Given the description of an element on the screen output the (x, y) to click on. 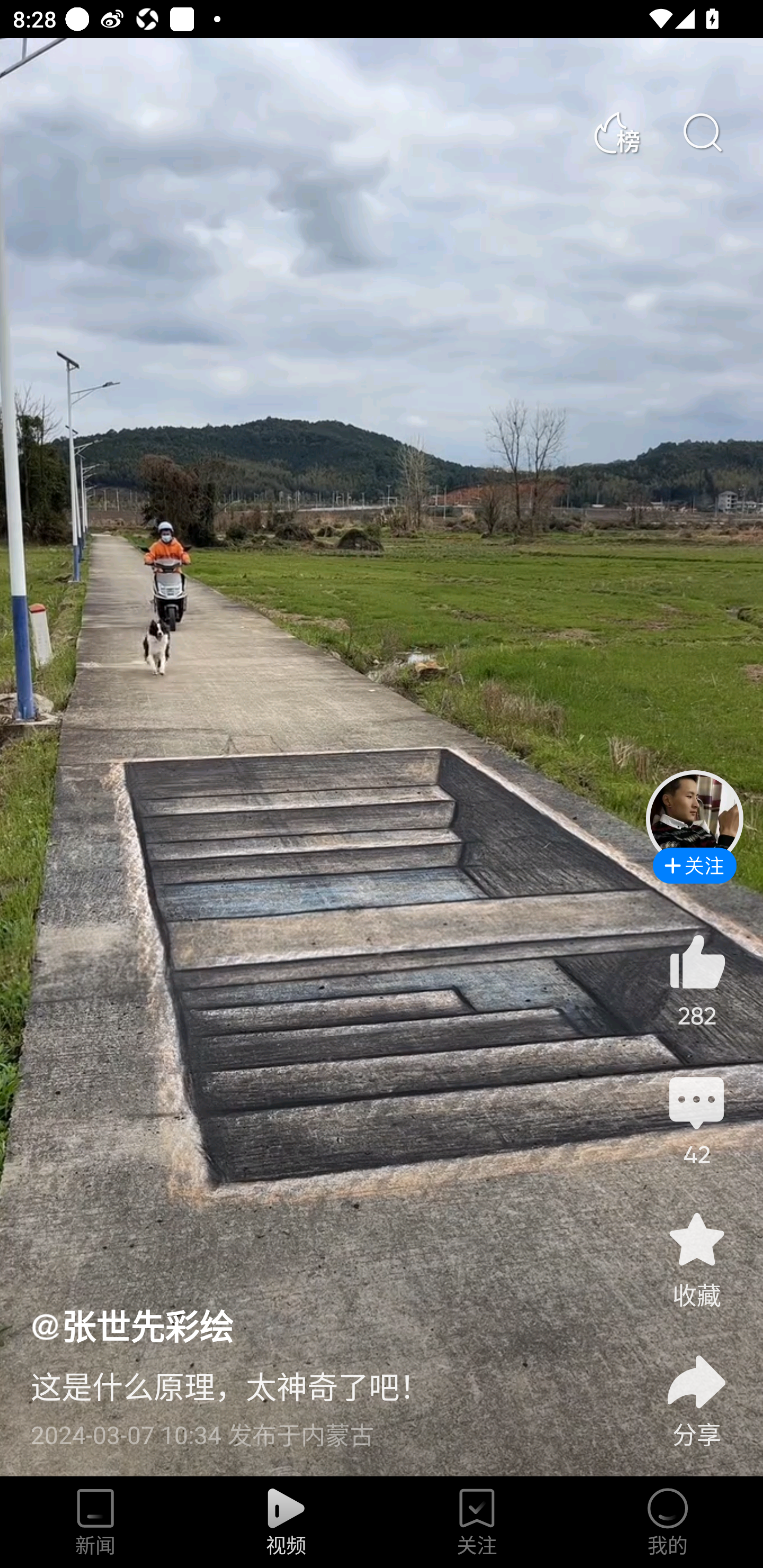
 热榜 (616, 133)
 搜索 (701, 133)
赞 282 (696, 979)
评论  42 (696, 1118)
收藏 (696, 1258)
张世先彩绘 (131, 1325)
分享  分享 (696, 1389)
这是什么原理，太神奇了吧！ 2024-03-07 10:34 发布于内蒙古 (321, 1399)
